Given the description of an element on the screen output the (x, y) to click on. 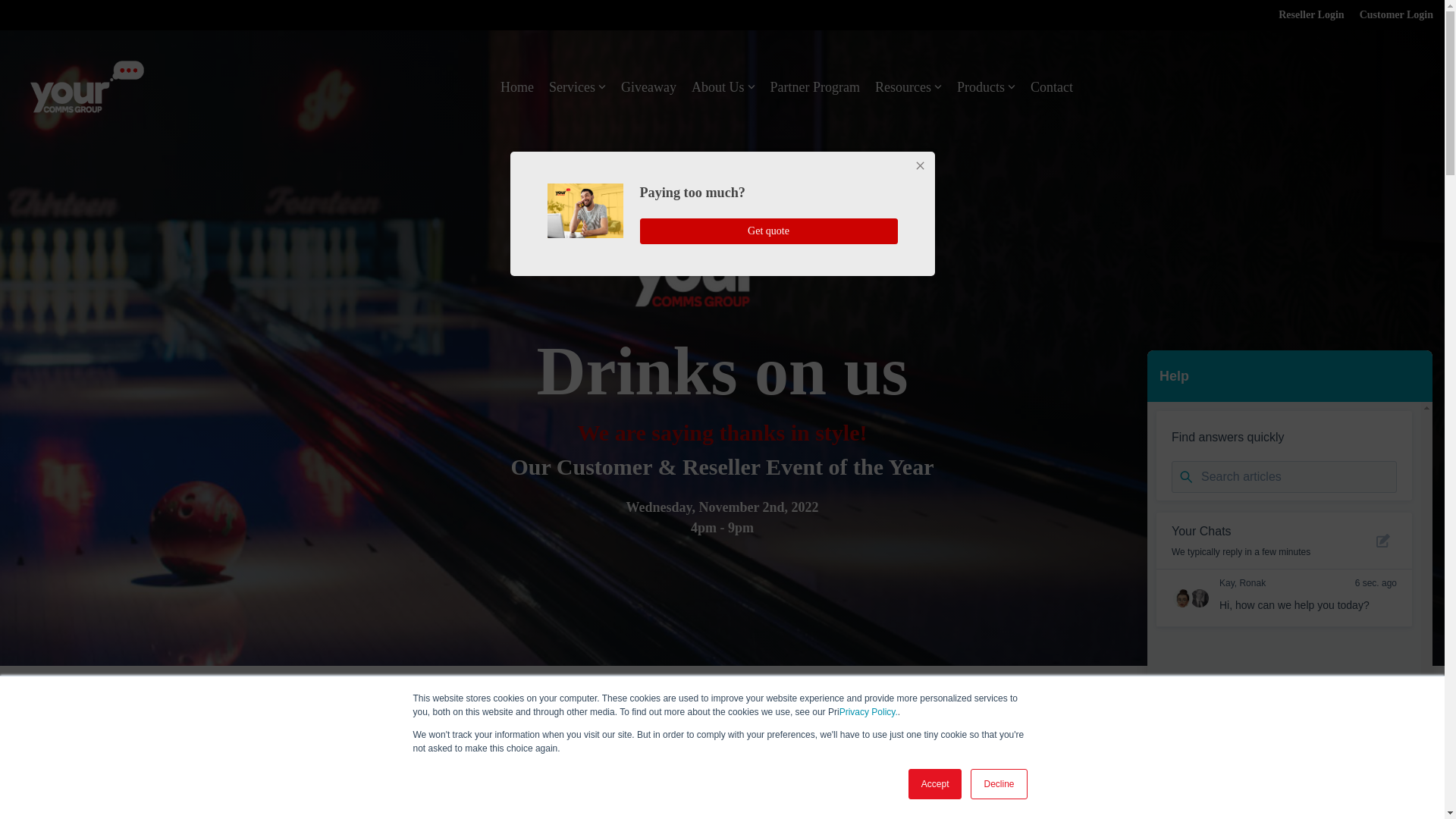
Reseller Login (1303, 14)
Products (985, 86)
Home (517, 86)
Services (576, 86)
Accept (935, 784)
Resources (908, 86)
YourComms-Group-4-wht (87, 86)
Giveaway (649, 86)
Privacy Policy. (869, 711)
About Us (723, 86)
Partner Program (815, 86)
Customer Login (1387, 14)
Decline (998, 784)
